Given the description of an element on the screen output the (x, y) to click on. 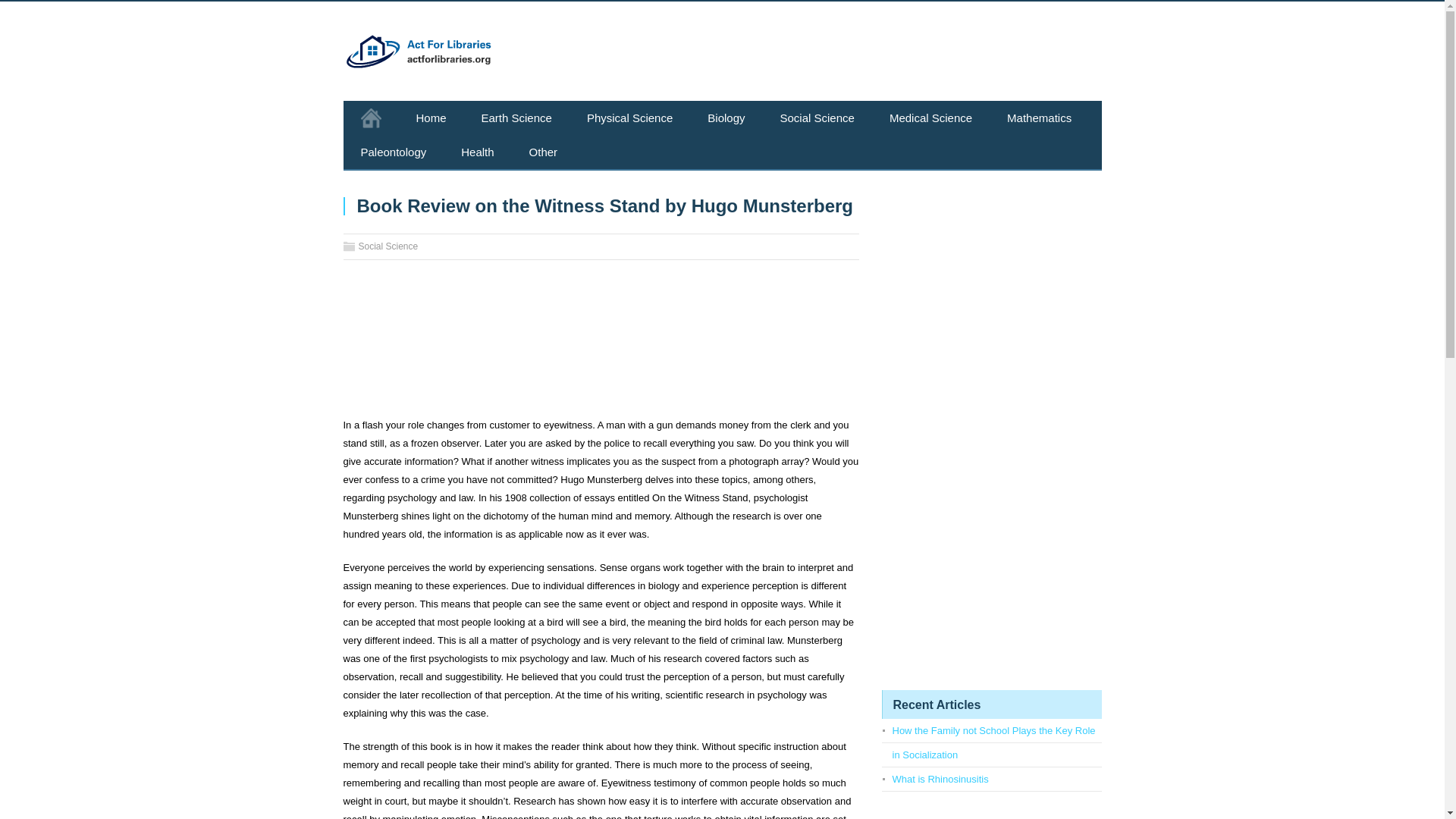
Biology (725, 117)
Advertisement (600, 344)
Health (477, 151)
Medical Science (931, 117)
Physical Science (629, 117)
Paleontology (393, 151)
Other (543, 151)
Earth Science (516, 117)
Social Science (387, 245)
What is Rhinosinusitis (939, 778)
Home (431, 117)
Mathematics (1039, 117)
Social Science (817, 117)
